Given the description of an element on the screen output the (x, y) to click on. 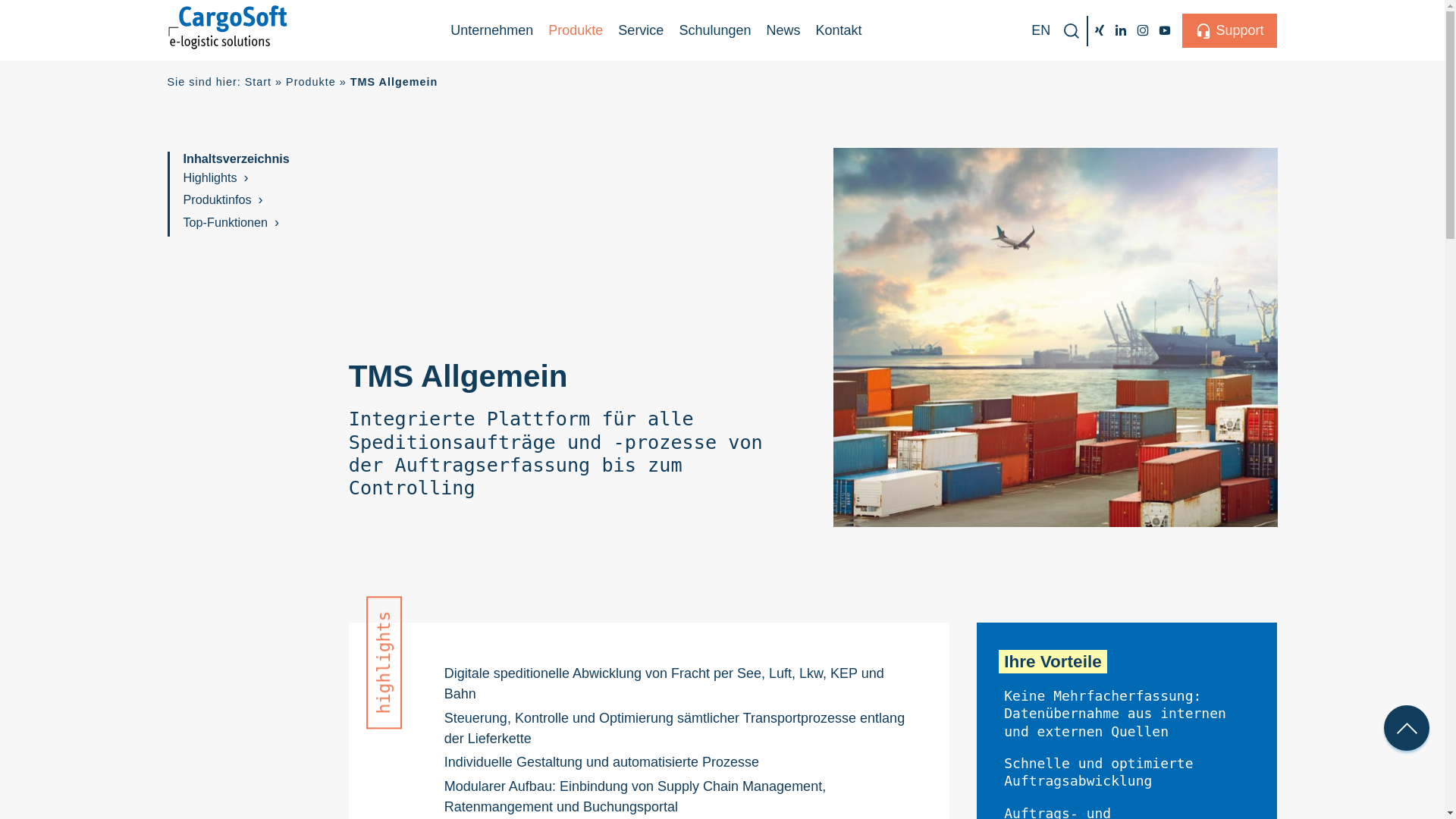
Service (640, 30)
Schulungen (714, 30)
Unternehmen (491, 30)
Produkte (575, 30)
